Given the description of an element on the screen output the (x, y) to click on. 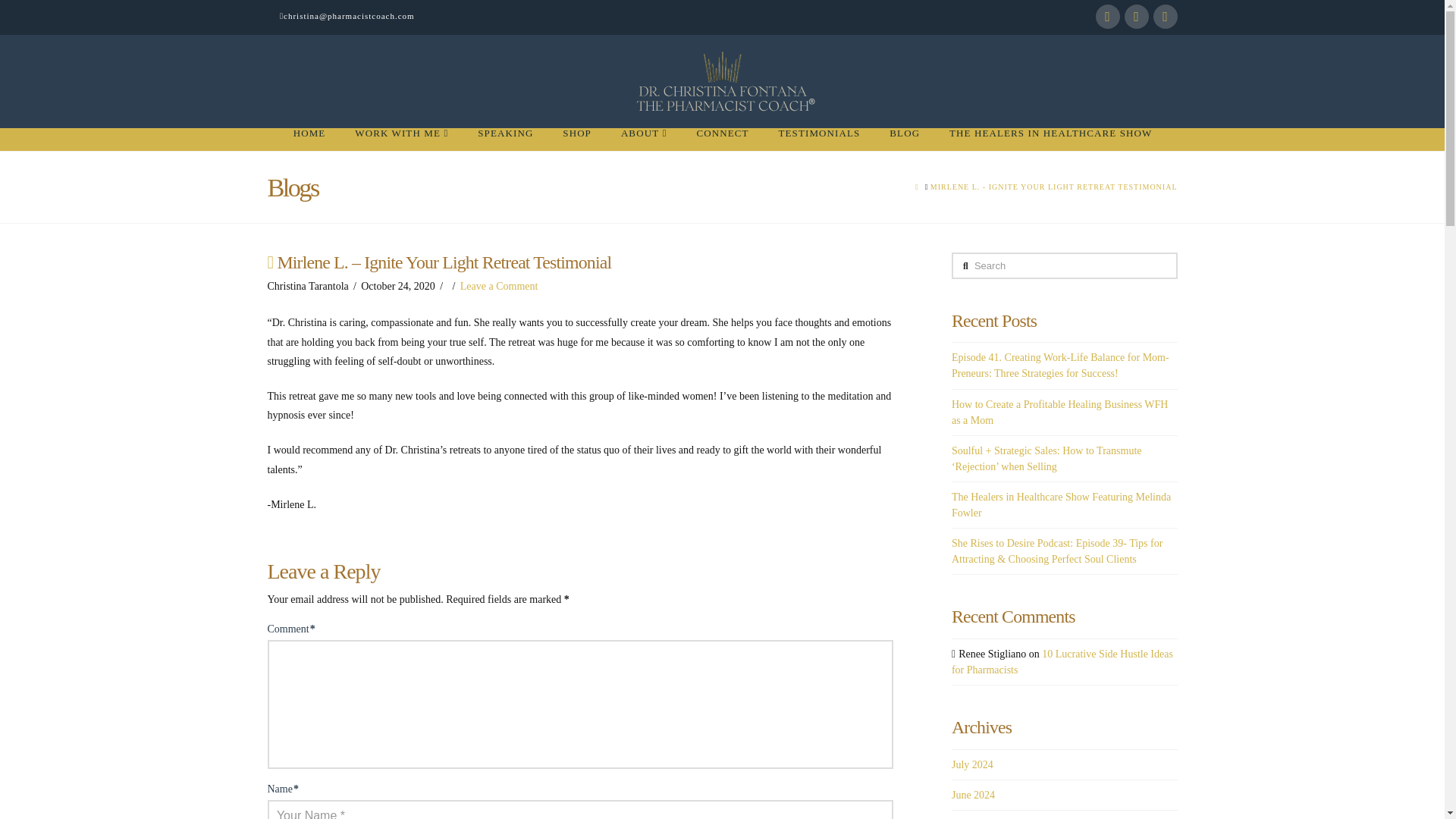
Instagram (1164, 16)
ABOUT (643, 138)
MIRLENE L. - IGNITE YOUR LIGHT RETREAT TESTIMONIAL (1053, 186)
Leave a Comment (499, 285)
BLOG (904, 138)
SPEAKING (505, 138)
YouTube (1136, 16)
WORK WITH ME (401, 138)
SHOP (576, 138)
